Given the description of an element on the screen output the (x, y) to click on. 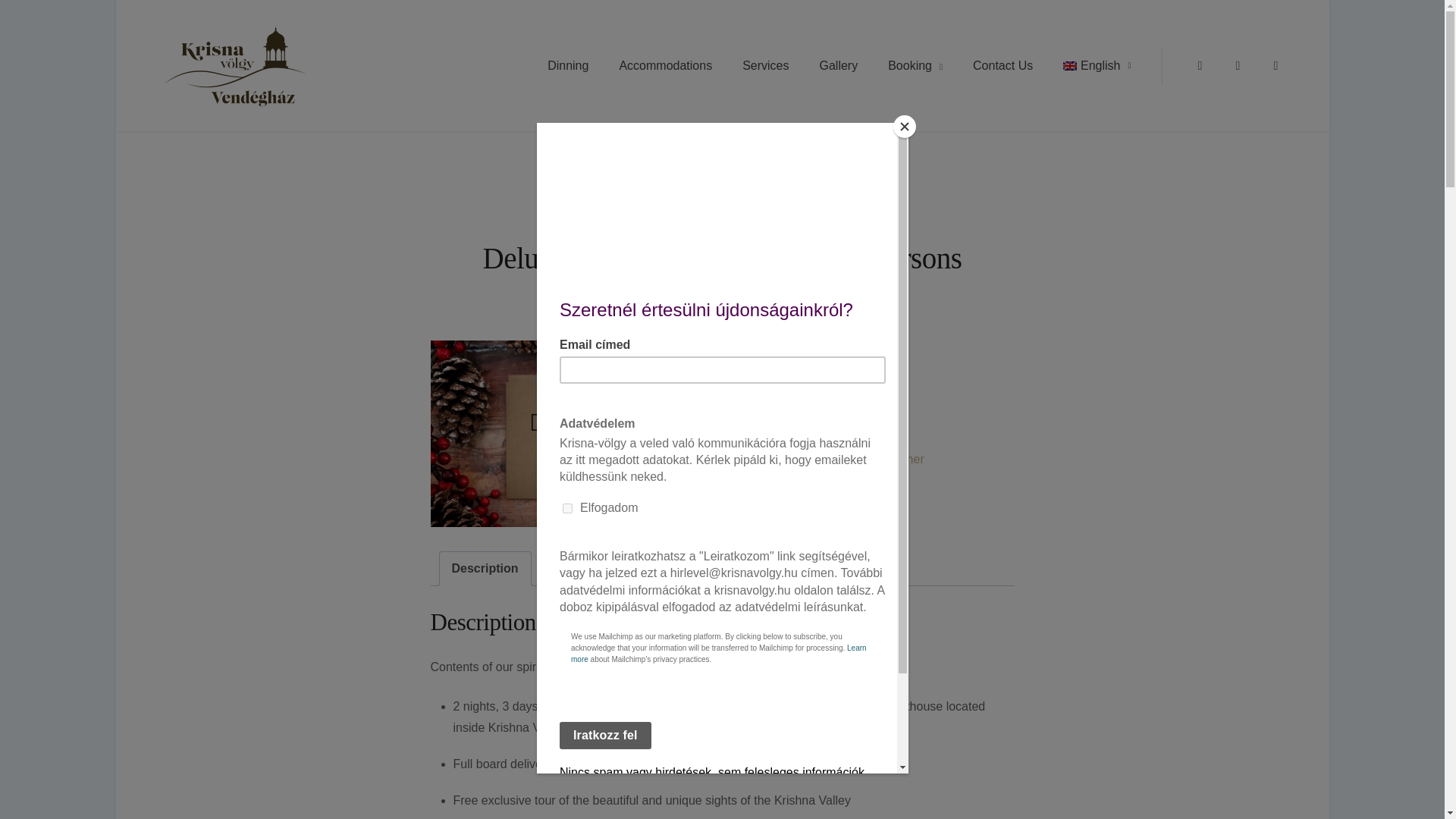
ADD TO CART (838, 398)
Subscribe (1275, 65)
Dinning (568, 64)
Instagram (1237, 65)
Krishna Valley Guesthouse (406, 73)
Booking (915, 64)
Other (908, 459)
English (1096, 64)
Contact Us (1003, 64)
Gallery (837, 64)
Description (484, 568)
English (1096, 64)
Facebook (1199, 65)
Services (764, 64)
1 (755, 404)
